Given the description of an element on the screen output the (x, y) to click on. 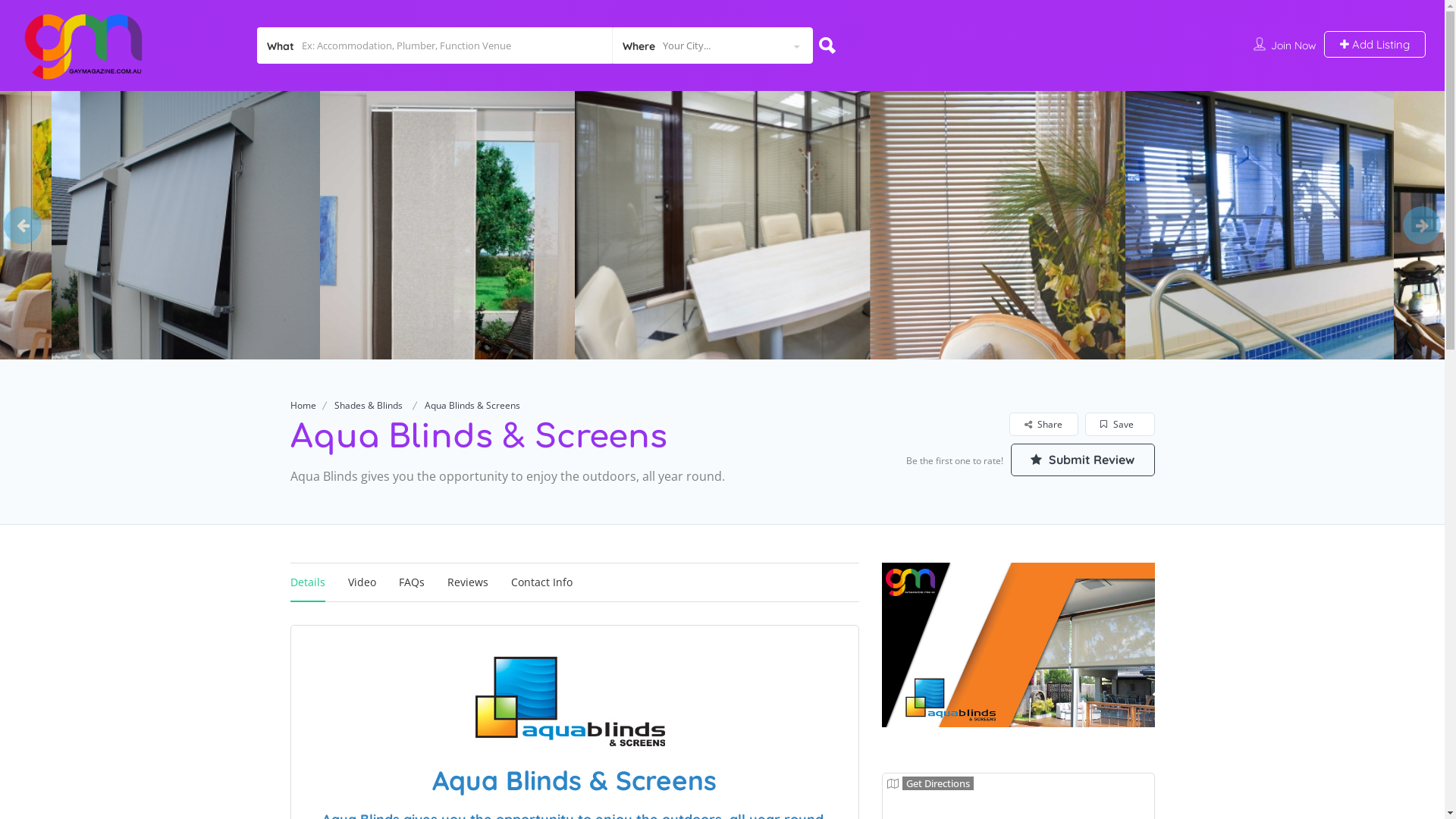
Sign in Element type: text (721, 472)
Previous Element type: text (22, 224)
Share Element type: text (1042, 424)
Next Element type: text (1421, 224)
Join Now Element type: text (1293, 45)
Video Element type: text (361, 582)
Details Element type: text (306, 582)
Save Element type: text (1119, 424)
Home Element type: text (302, 404)
Submit Element type: text (414, 502)
Reviews Element type: text (467, 582)
Add Listing Element type: text (1374, 44)
FAQs Element type: text (411, 582)
Submit Review Element type: text (1082, 459)
Your City... Element type: text (711, 45)
Contact Info Element type: text (541, 582)
Get Directions Element type: text (930, 783)
Shades & Blinds Element type: text (367, 404)
